Given the description of an element on the screen output the (x, y) to click on. 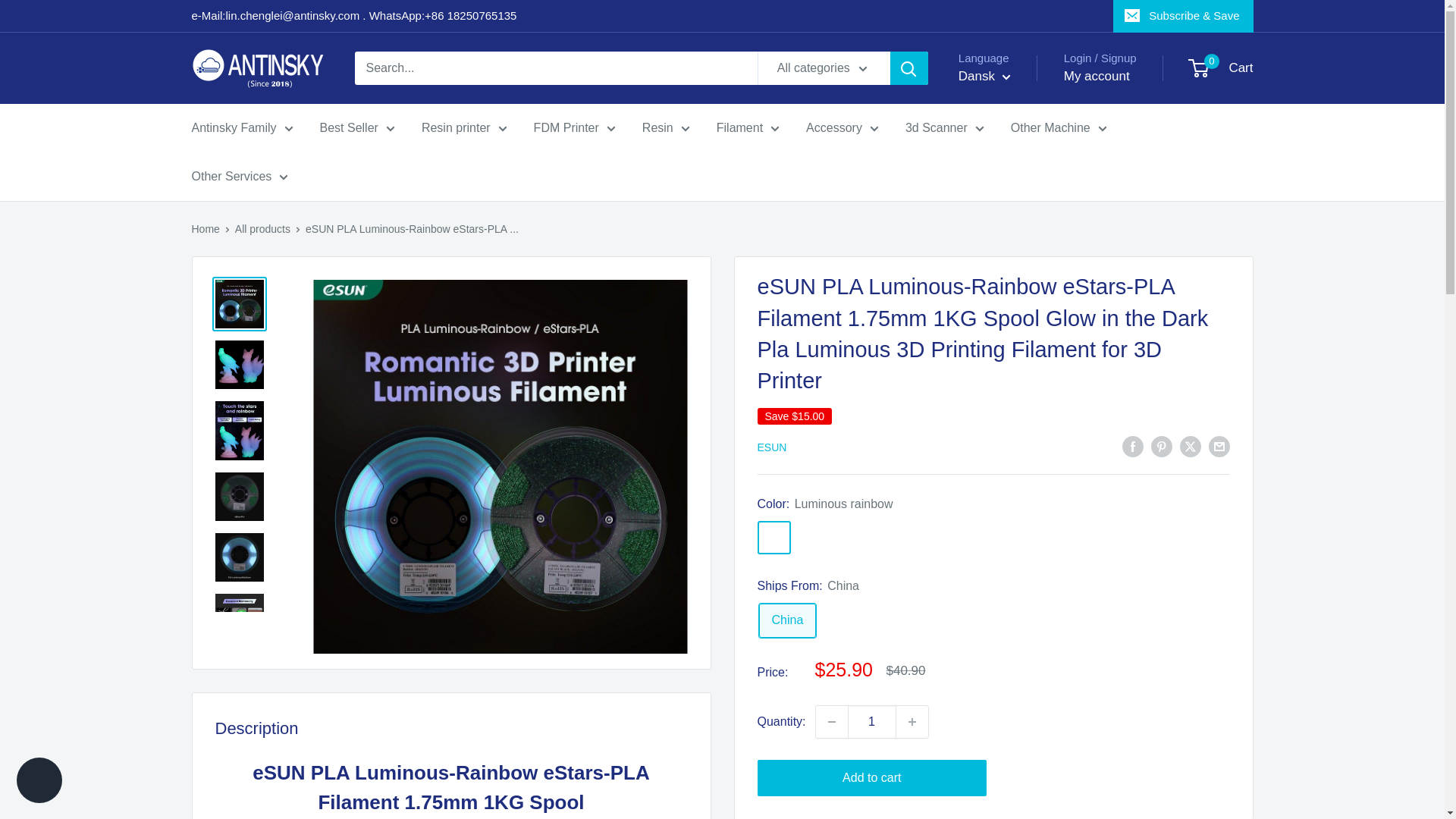
Decrease quantity by 1 (831, 721)
eStars-PLA (813, 537)
Increase quantity by 1 (912, 721)
1 (871, 721)
Luminous rainbow (773, 537)
Shopify-webshopchat (38, 781)
China (786, 620)
